Given the description of an element on the screen output the (x, y) to click on. 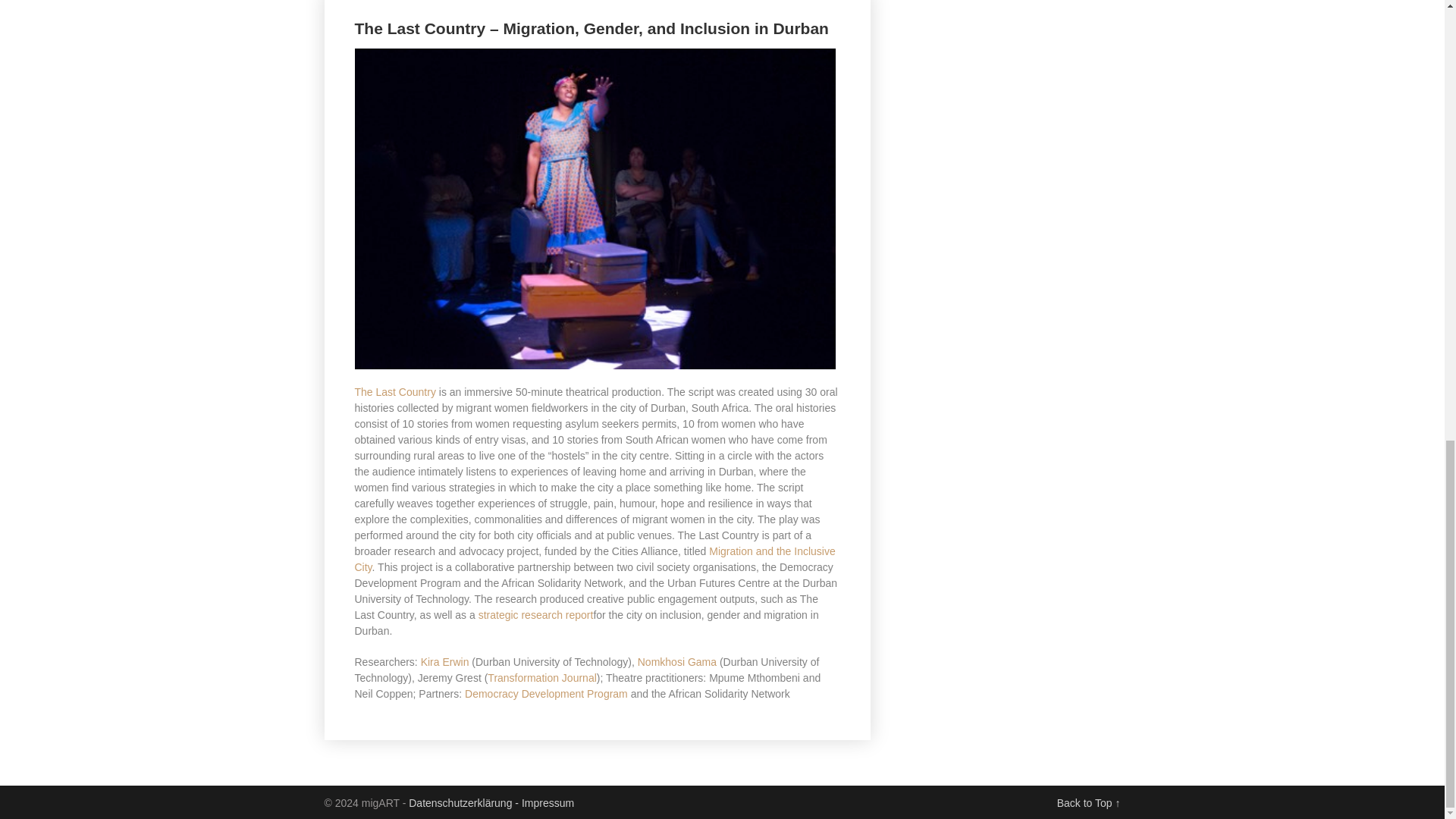
Migration and the Inclusive City (595, 559)
Nomkhosi Gama (676, 662)
Democracy Development Program (545, 693)
The Last Country (395, 391)
Kira Erwin (444, 662)
strategic research report (536, 614)
Transformation Journal (541, 677)
